Given the description of an element on the screen output the (x, y) to click on. 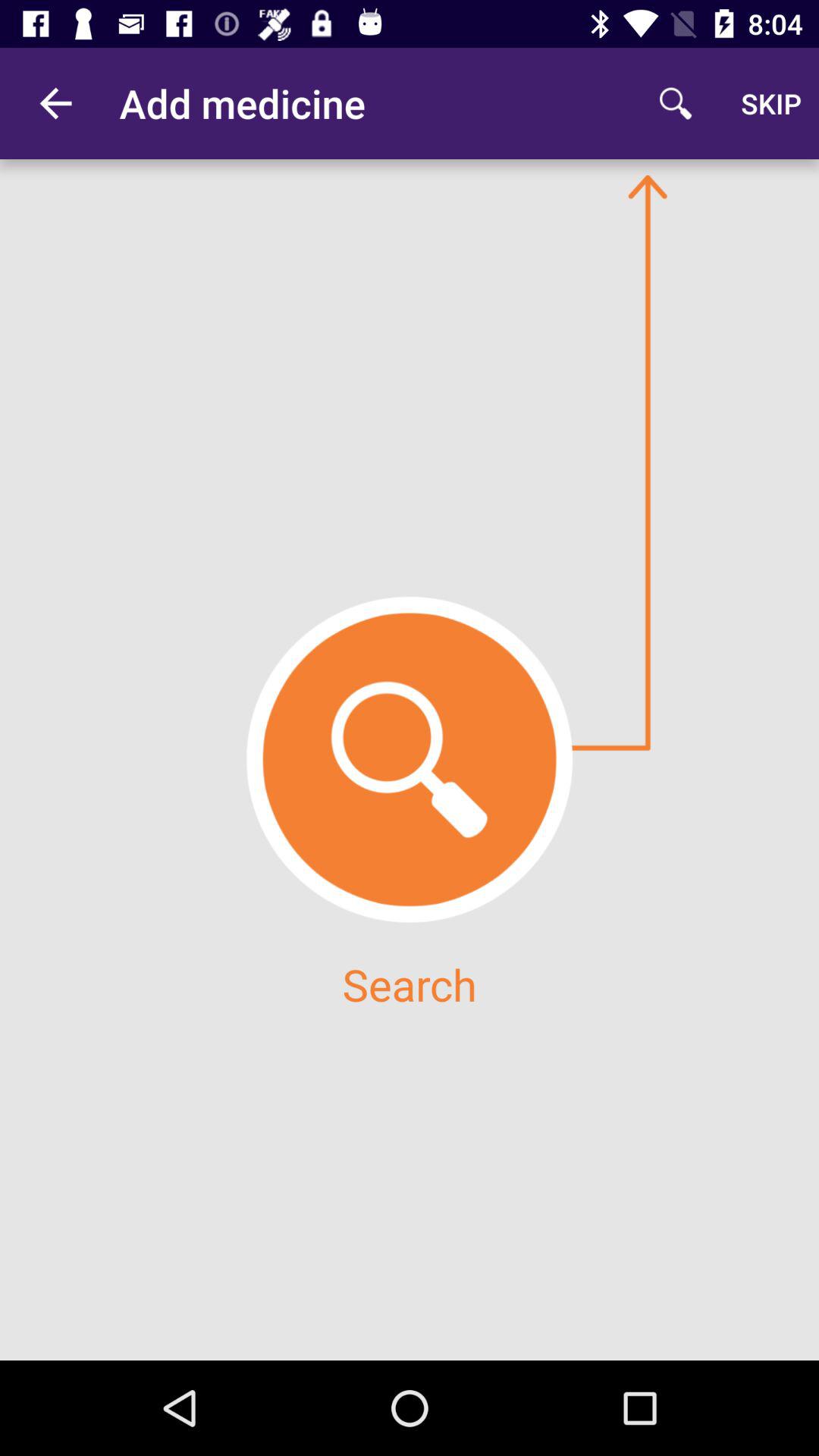
scroll until the skip item (771, 103)
